Given the description of an element on the screen output the (x, y) to click on. 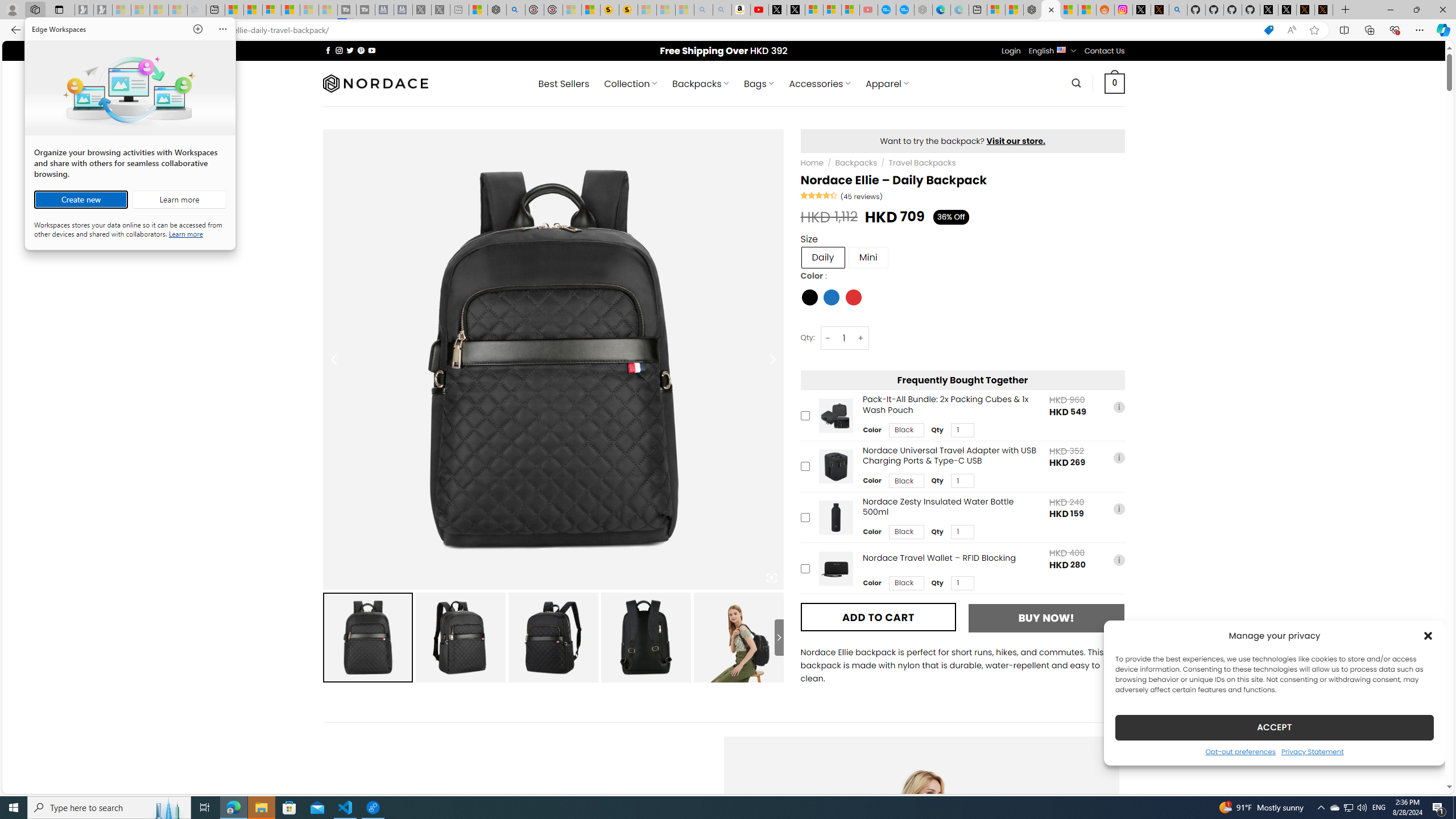
Nordace Ellie - Daily Backpack (738, 637)
  Best Sellers (563, 83)
The most popular Google 'how to' searches (904, 9)
Mini (868, 257)
Profile / X (1268, 9)
Log in to X / X (1142, 9)
User Promoted Notification Area (1347, 807)
  0   (1115, 83)
